Given the description of an element on the screen output the (x, y) to click on. 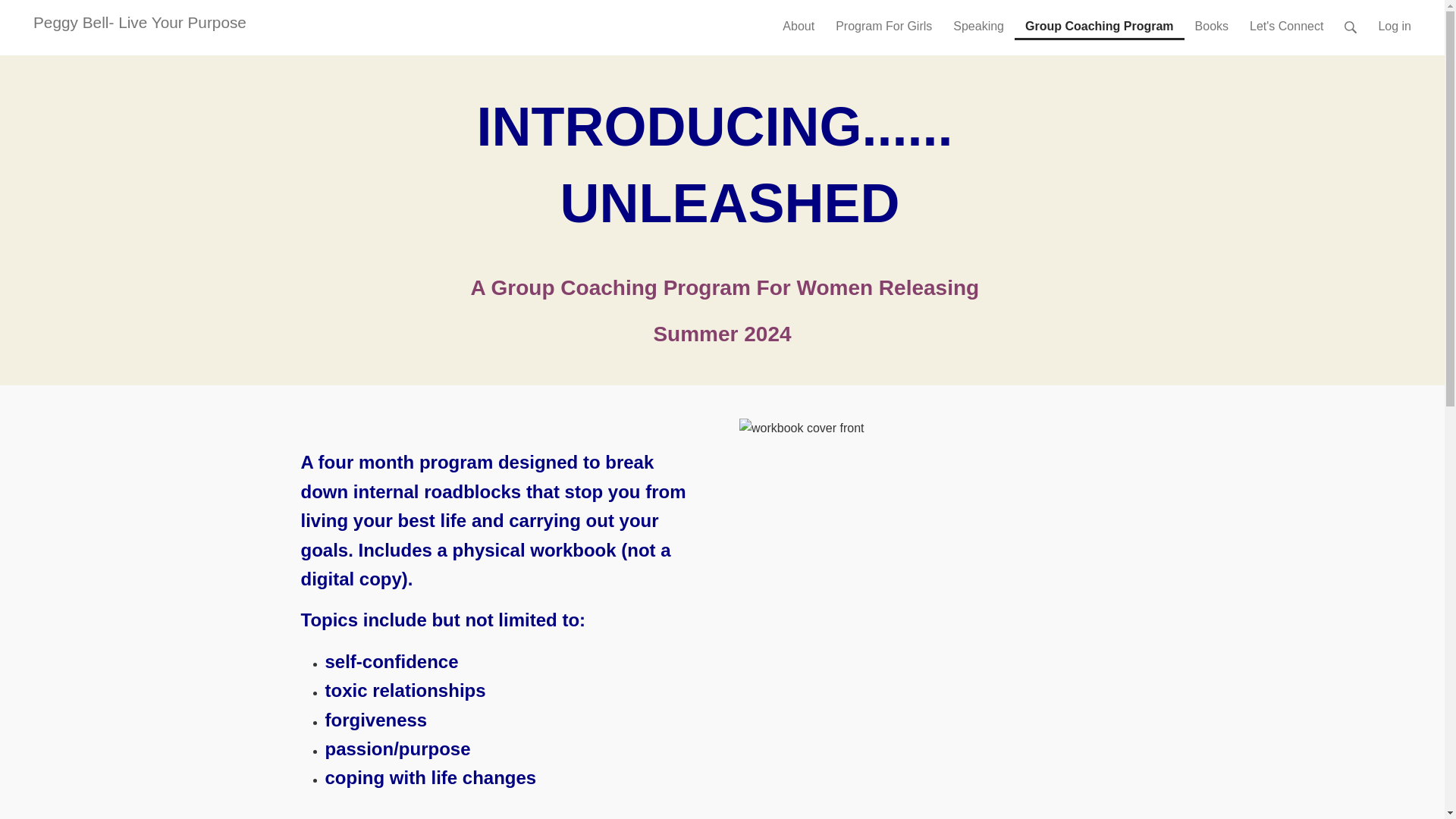
Let's Connect (1286, 20)
Speaking (978, 20)
Peggy Bell- Live Your Purpose (140, 22)
Program For Girls (883, 20)
Books (1212, 20)
Log in (1394, 20)
About (798, 20)
